Given the description of an element on the screen output the (x, y) to click on. 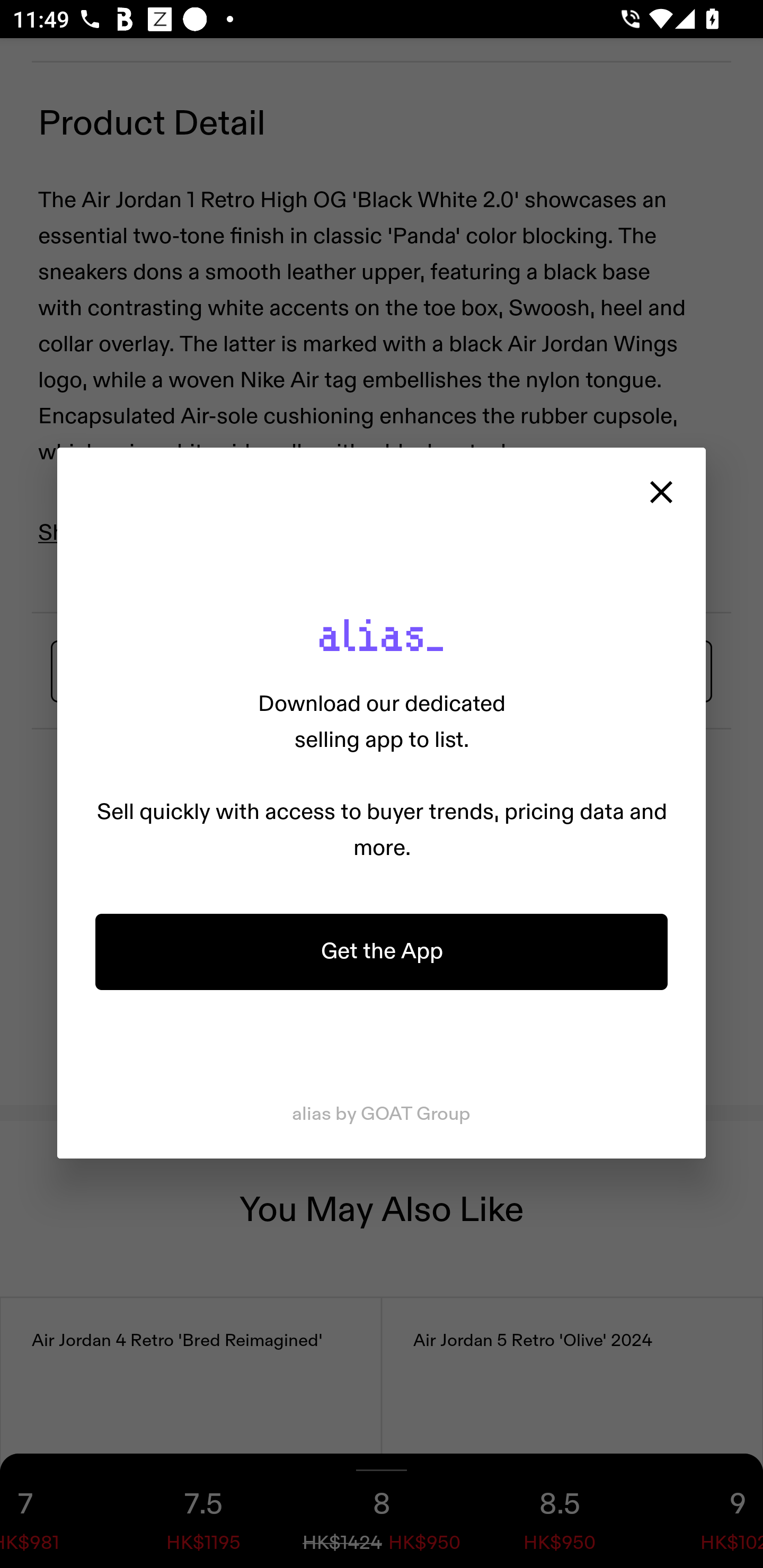
Get the App (381, 951)
